Given the description of an element on the screen output the (x, y) to click on. 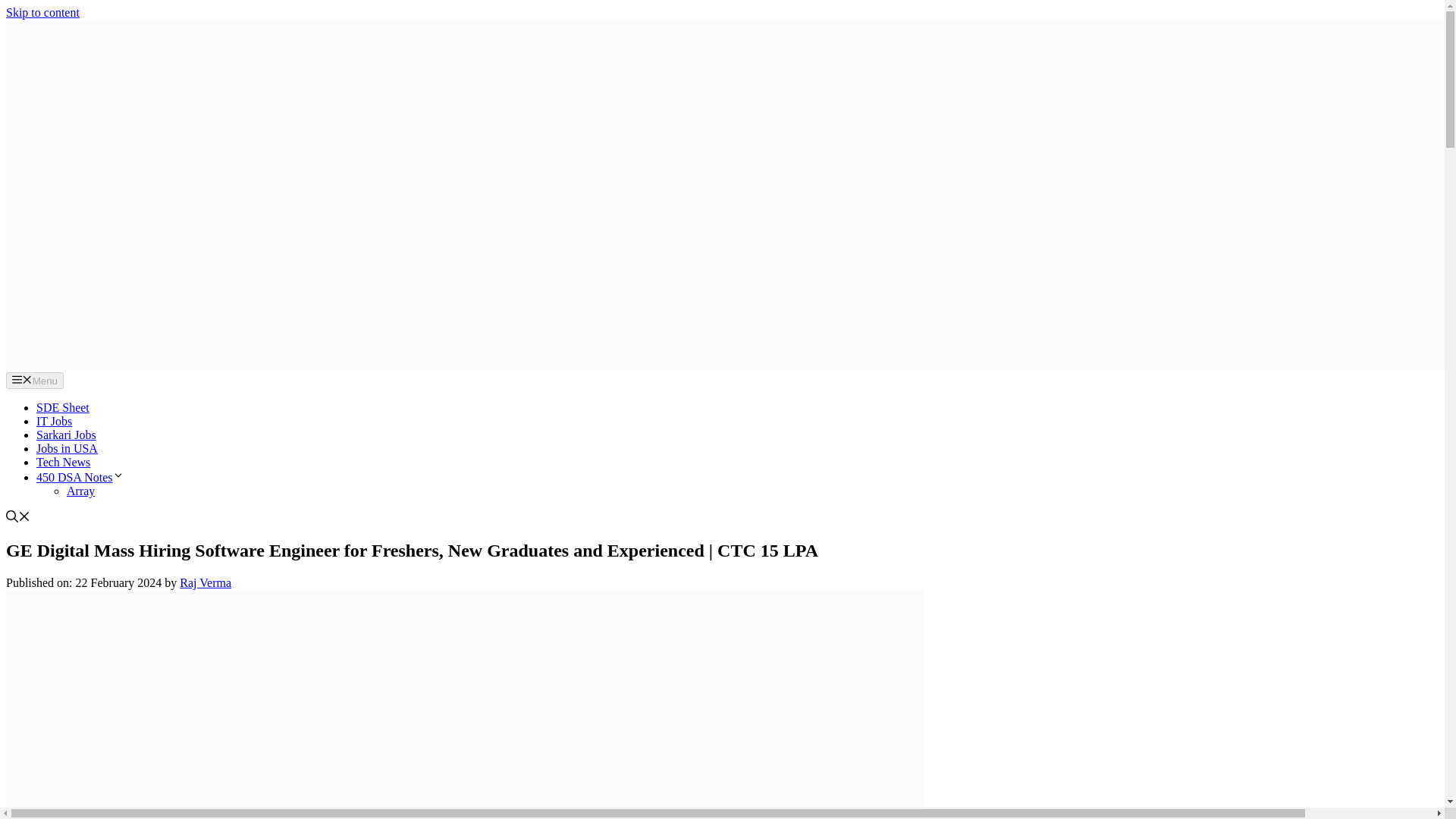
Menu (34, 380)
Skip to content (42, 11)
450 DSA Notes (79, 477)
Sarkari Jobs (66, 434)
Skip to content (42, 11)
Jobs in USA (66, 448)
Tech News (63, 461)
View all posts by Raj Verma (205, 582)
IT Jobs (53, 420)
Raj Verma (205, 582)
SDE Sheet (62, 407)
Array (80, 490)
